Given the description of an element on the screen output the (x, y) to click on. 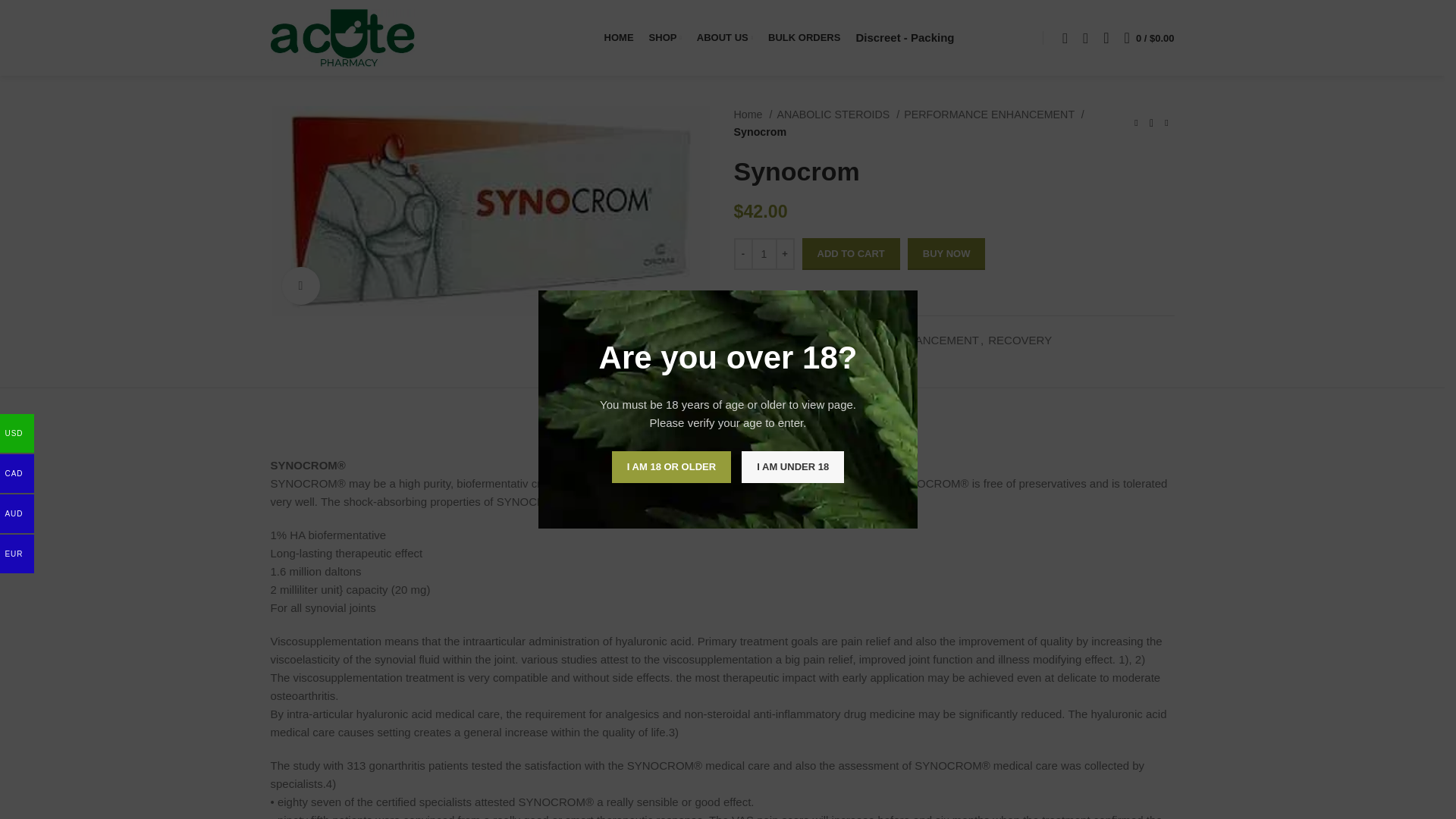
Home (753, 114)
I AM UNDER 18 (792, 467)
I AM 18 OR OLDER (670, 467)
BULK ORDERS (803, 37)
Discreet - Packing (904, 37)
HOME (619, 37)
PERFORMANCE ENHANCEMENT (994, 114)
SHOP (665, 37)
ABOUT US (724, 37)
Synocrom.jpg (489, 211)
